Given the description of an element on the screen output the (x, y) to click on. 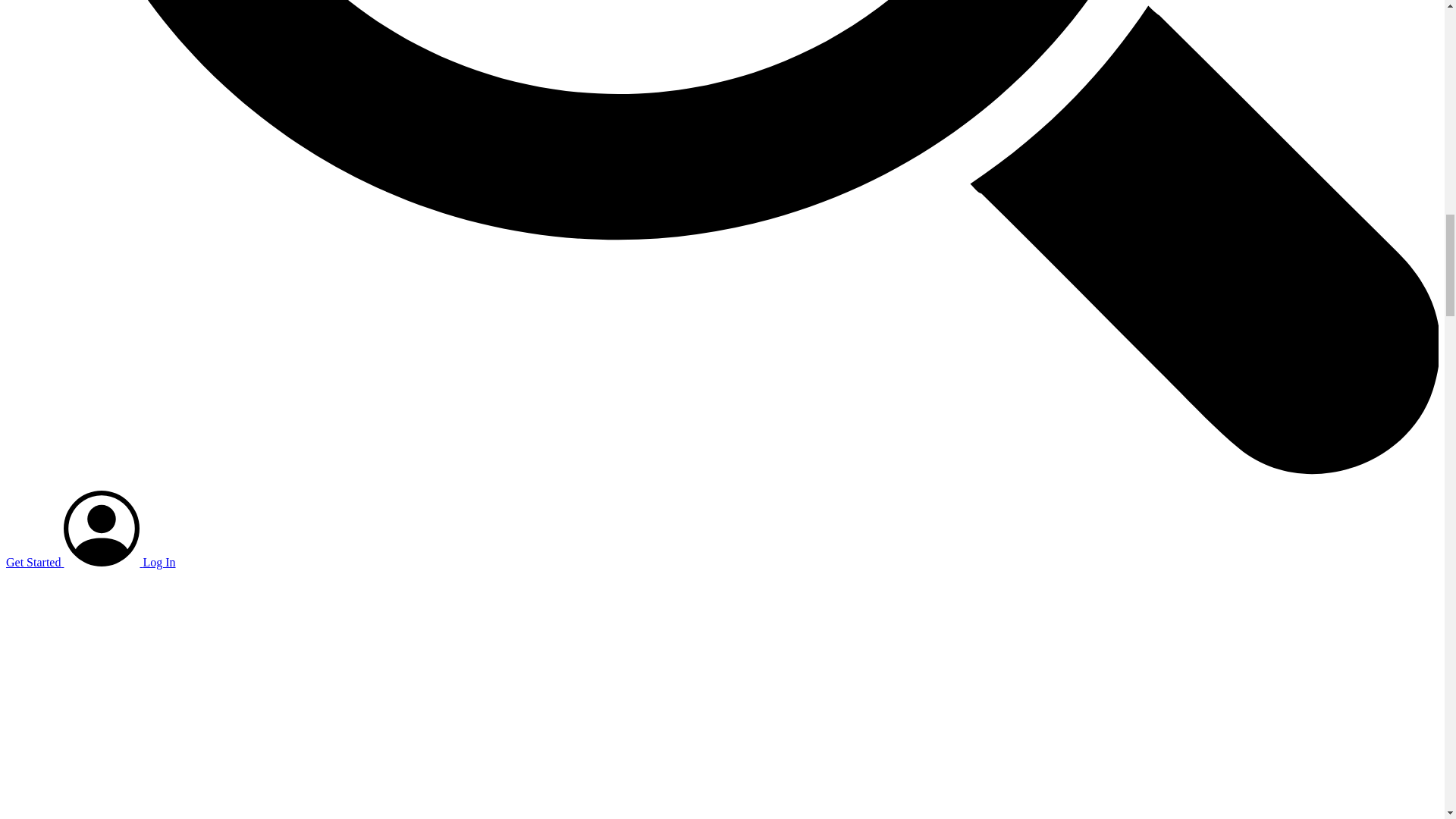
Log In (117, 562)
Podcast (227, 576)
All Blogs (28, 576)
Marketing and Business (149, 576)
Get Started (33, 562)
Articles (71, 576)
Updates (265, 576)
Videos (301, 576)
